Given the description of an element on the screen output the (x, y) to click on. 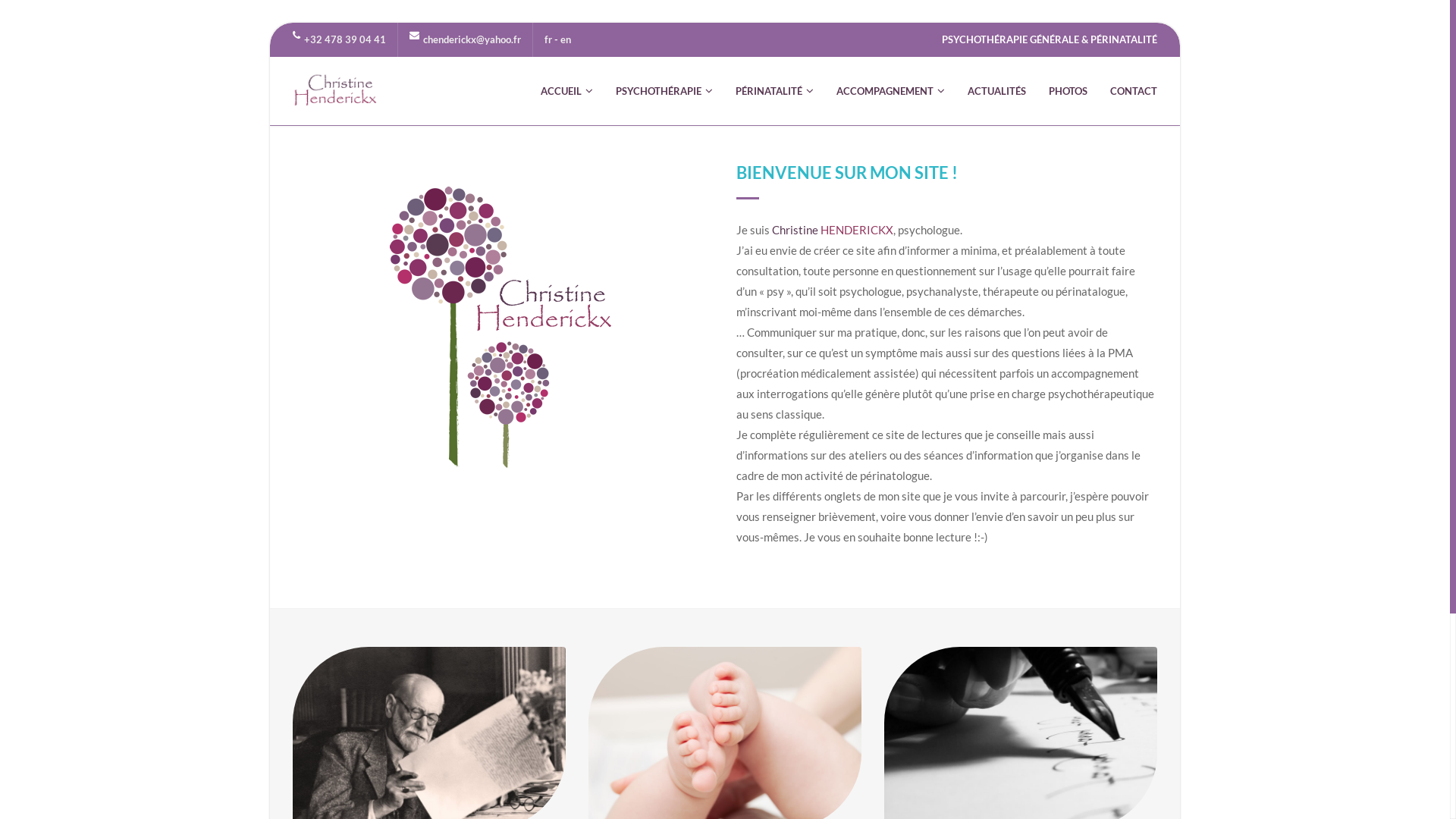
en Element type: text (565, 39)
CONTACT Element type: text (1133, 90)
ACCUEIL Element type: text (566, 90)
chenderickx@yahoo.fr Element type: text (471, 39)
PHOTOS Element type: text (1067, 90)
fr Element type: text (548, 39)
Christine Henderickx - Psychologue Bruxelles Element type: hover (335, 90)
+32 478 39 04 41 Element type: text (344, 39)
ACCOMPAGNEMENT Element type: text (890, 90)
